Given the description of an element on the screen output the (x, y) to click on. 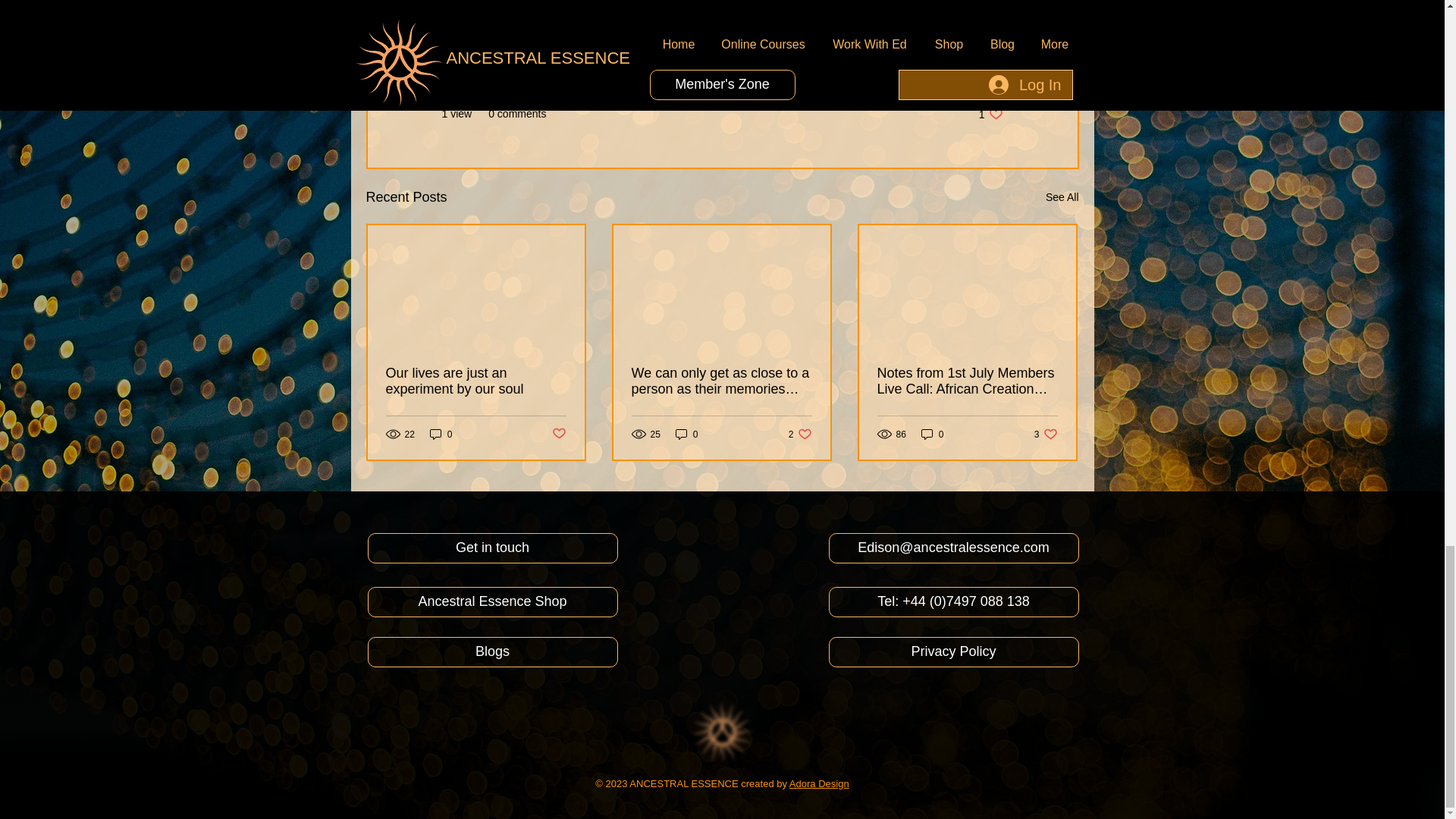
0 (800, 433)
0 (687, 433)
See All (441, 433)
Our lives are just an experiment by our soul (1061, 197)
Post not marked as liked (990, 114)
